Given the description of an element on the screen output the (x, y) to click on. 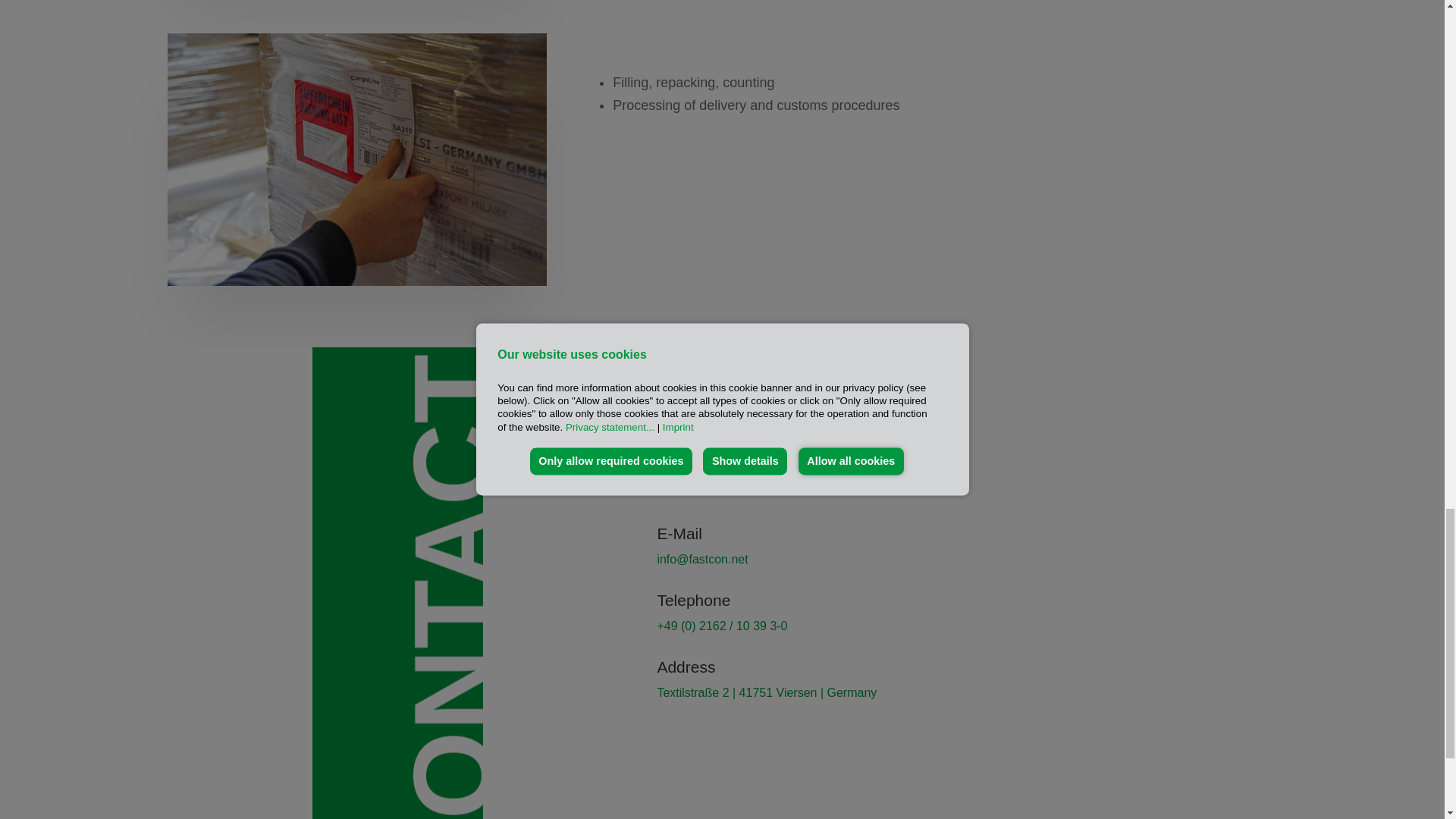
fastcon-promotion-bild-003 (356, 159)
